Given the description of an element on the screen output the (x, y) to click on. 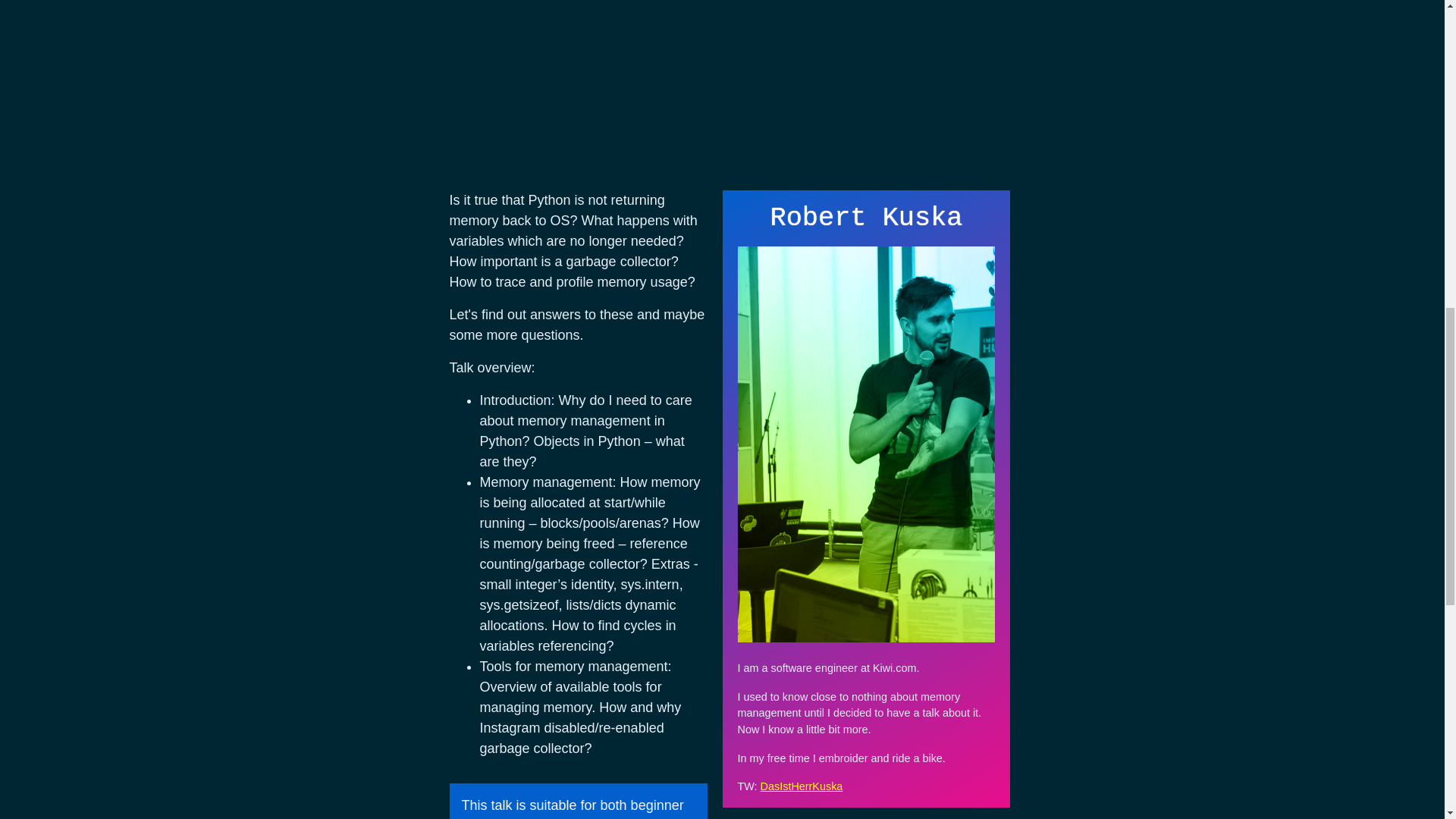
DasIstHerrKuska (801, 786)
